Given the description of an element on the screen output the (x, y) to click on. 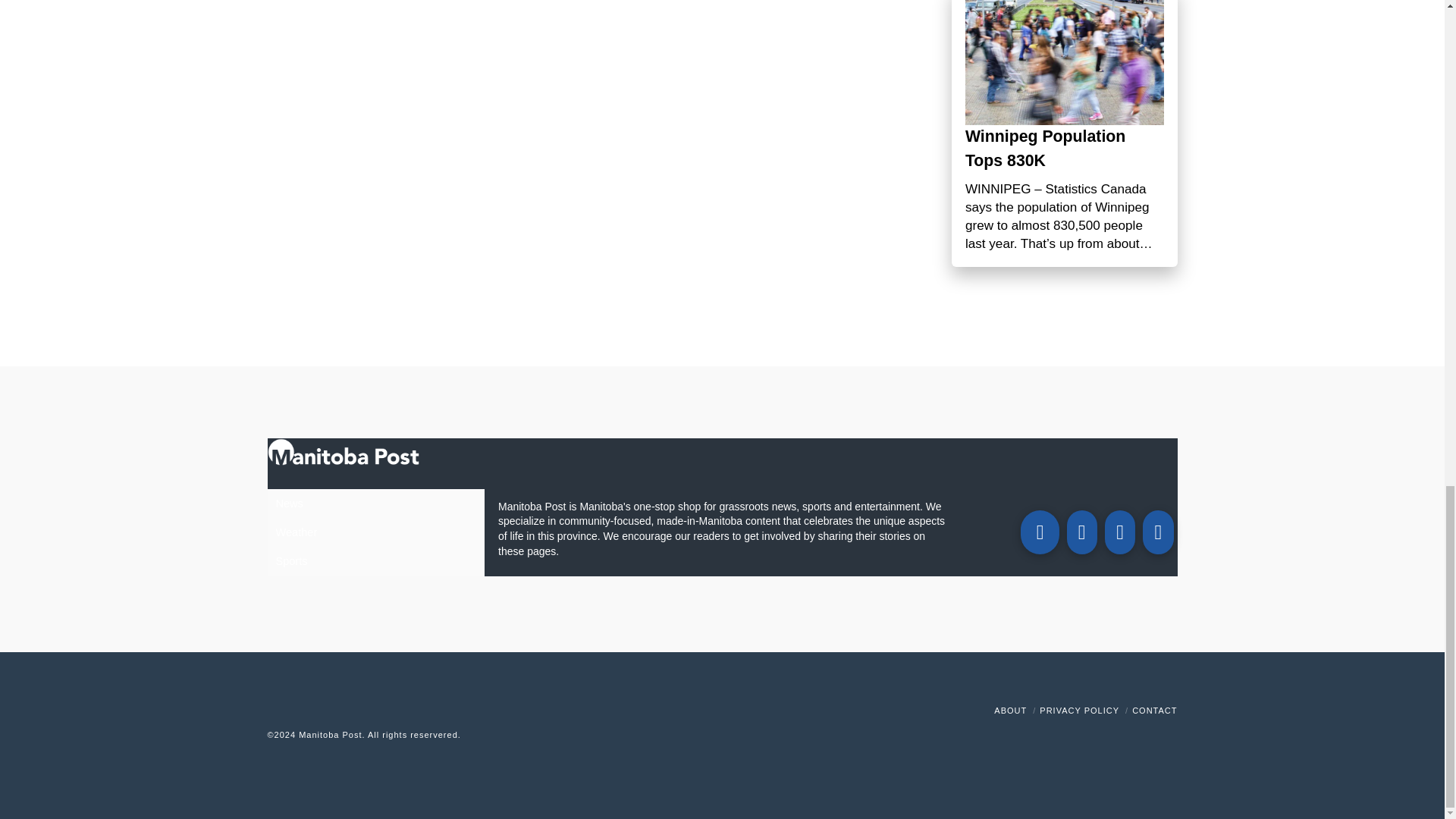
FooterWhite (497, 734)
Sports (375, 561)
Weather (375, 532)
News (375, 502)
